Given the description of an element on the screen output the (x, y) to click on. 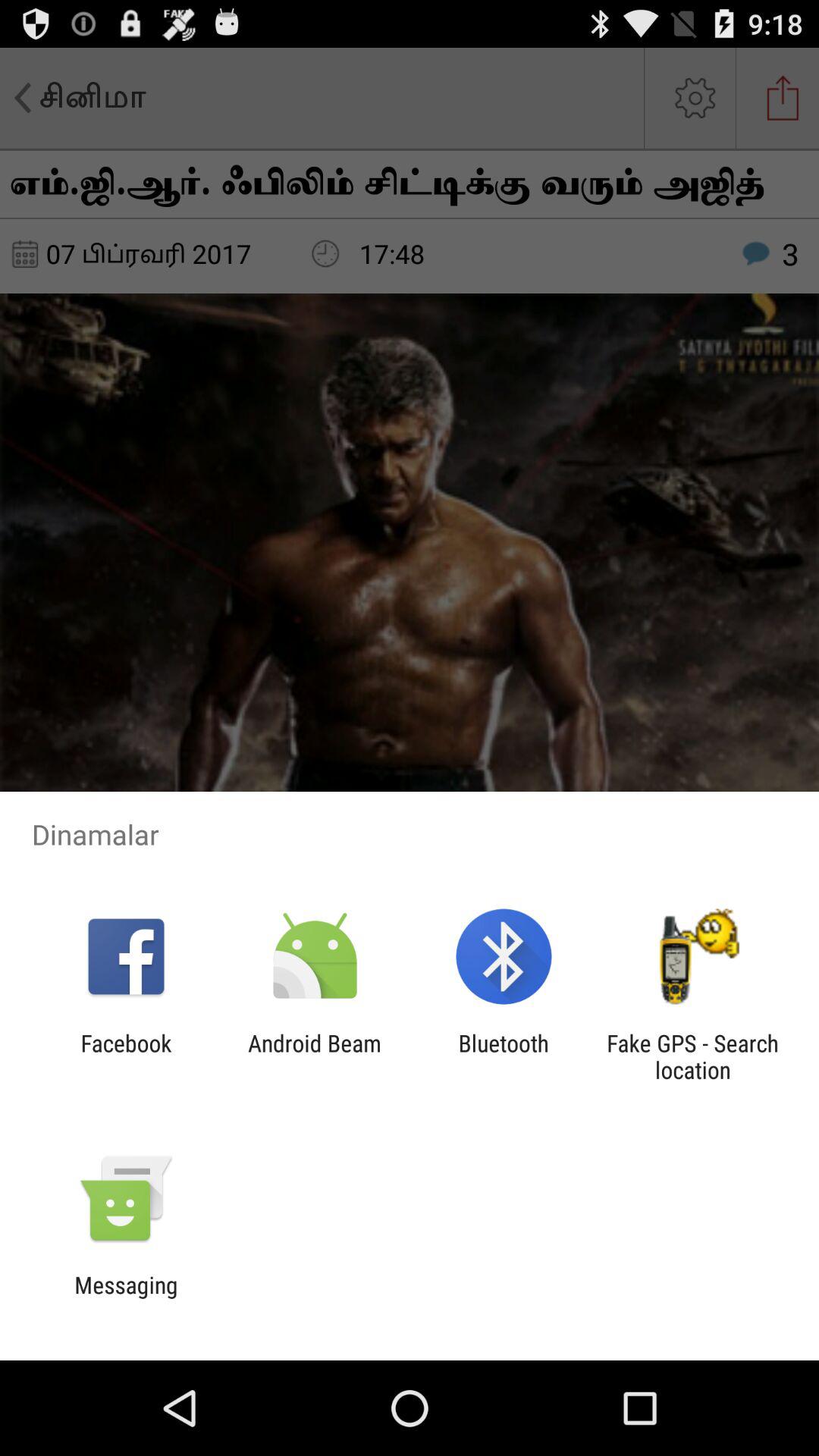
press the item to the left of the bluetooth item (314, 1056)
